Given the description of an element on the screen output the (x, y) to click on. 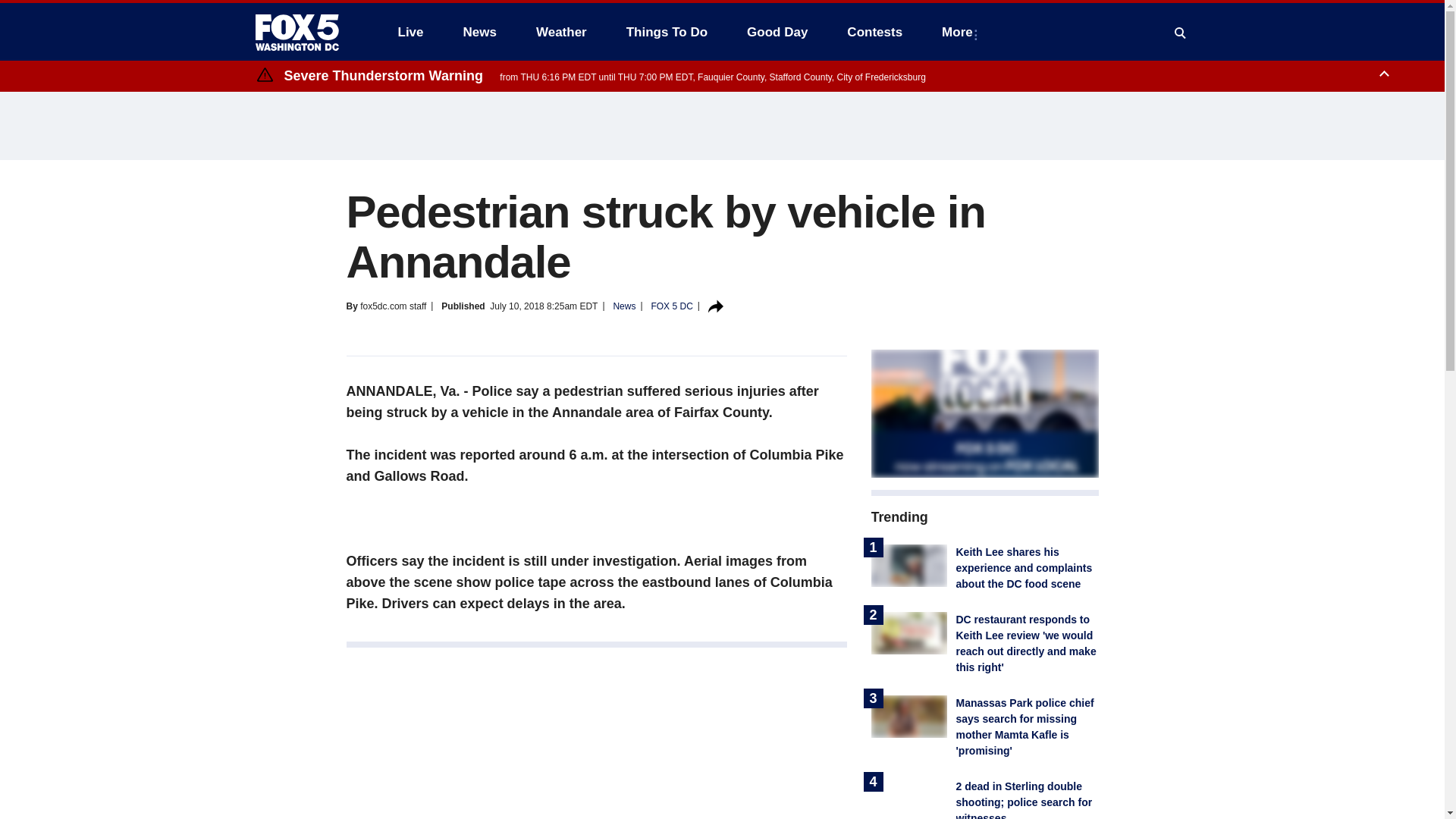
Things To Do (666, 32)
Contests (874, 32)
Weather (561, 32)
More (960, 32)
News (479, 32)
Live (410, 32)
Good Day (777, 32)
